Given the description of an element on the screen output the (x, y) to click on. 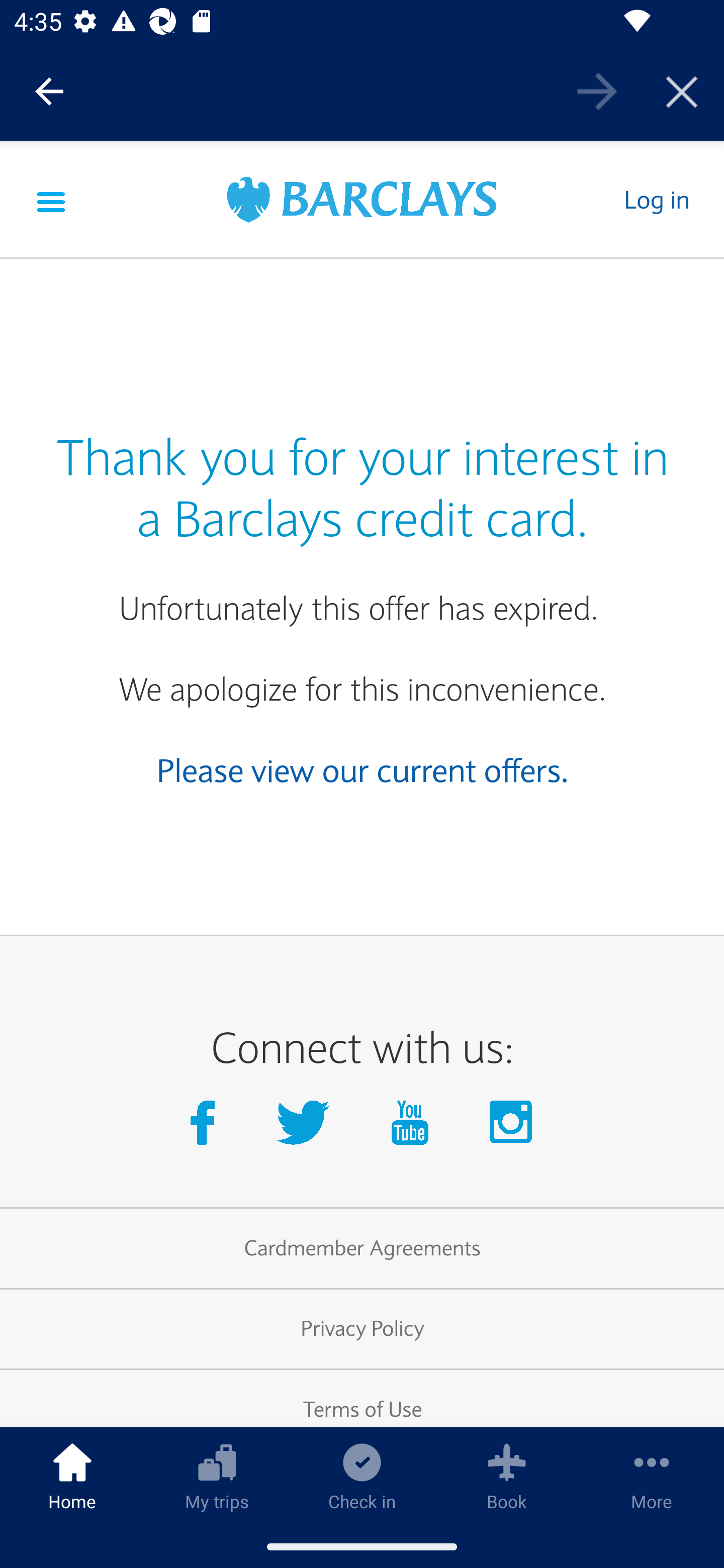
Navigate up (49, 91)
Forward (597, 90)
Stop (681, 90)
Menu (51, 199)
Log in (655, 199)
Barclays (362, 201)
Please view our current offers. (362, 770)
Connect with Barclays US on Facebook (205, 1127)
Follow Barclays US on Twitter (306, 1127)
Watch Barclays US videos on YouTube (414, 1127)
Follow Barclays US on Instagram (512, 1127)
Cardmember Agreements (362, 1247)
Privacy Policy (362, 1328)
Terms of Use (362, 1398)
My trips (216, 1475)
Check in (361, 1475)
Book (506, 1475)
More (651, 1475)
